Given the description of an element on the screen output the (x, y) to click on. 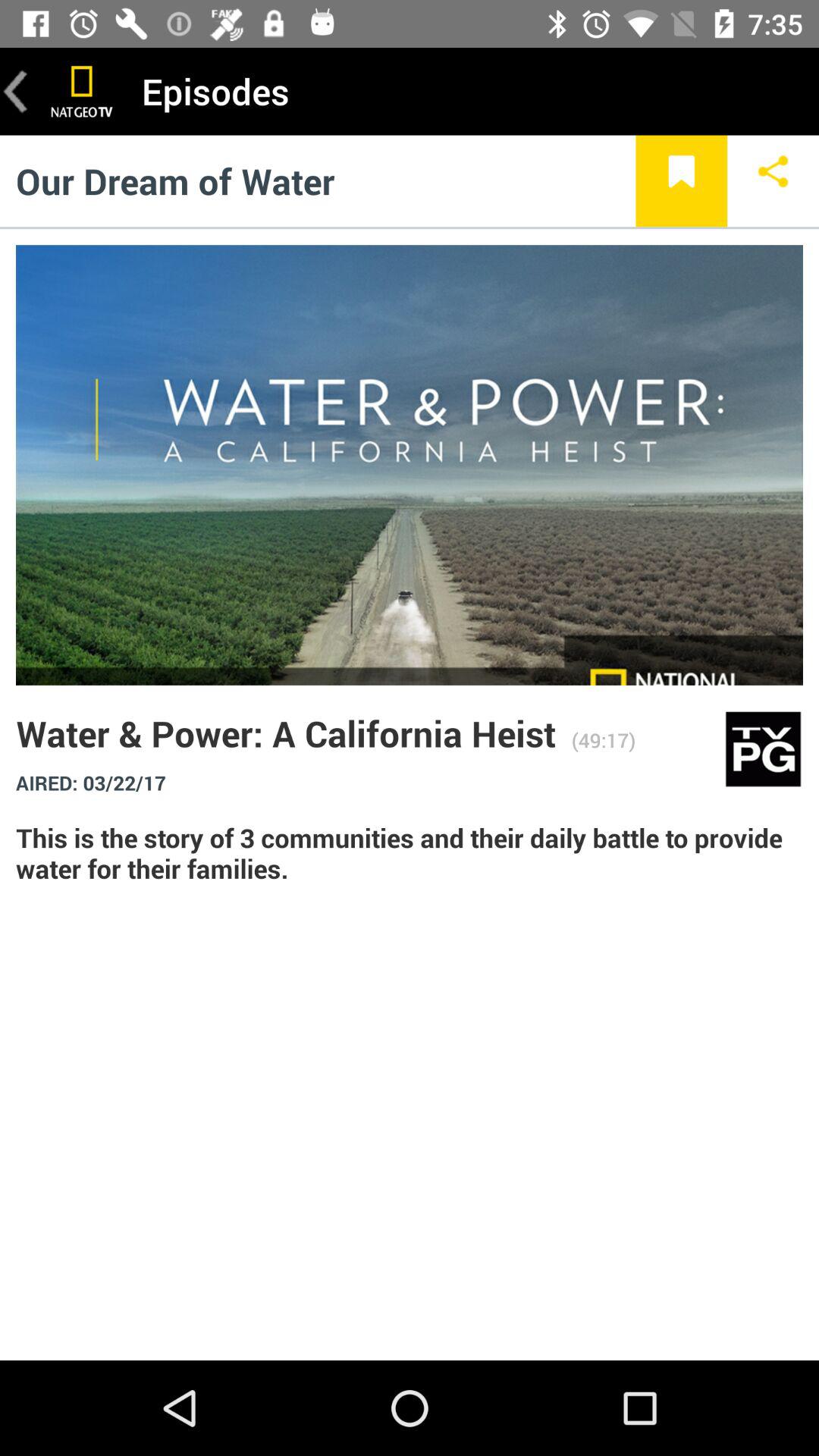
choose the item to the left of episodes item (81, 91)
